Given the description of an element on the screen output the (x, y) to click on. 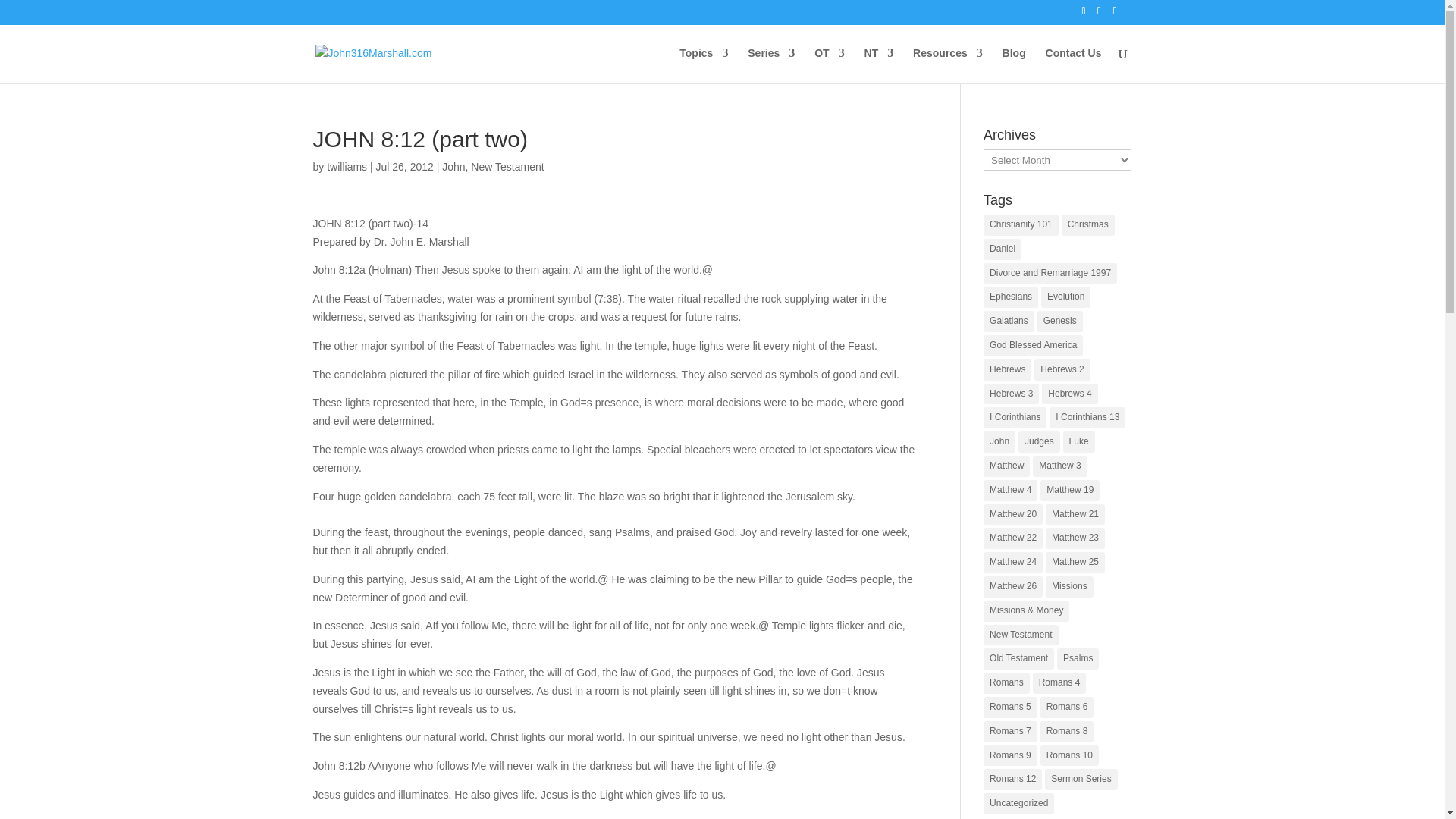
Posts by twilliams (346, 166)
Resources (947, 65)
Topics (703, 65)
John (453, 166)
twilliams (346, 166)
Contact Us (1073, 65)
New Testament (506, 166)
Series (771, 65)
